Given the description of an element on the screen output the (x, y) to click on. 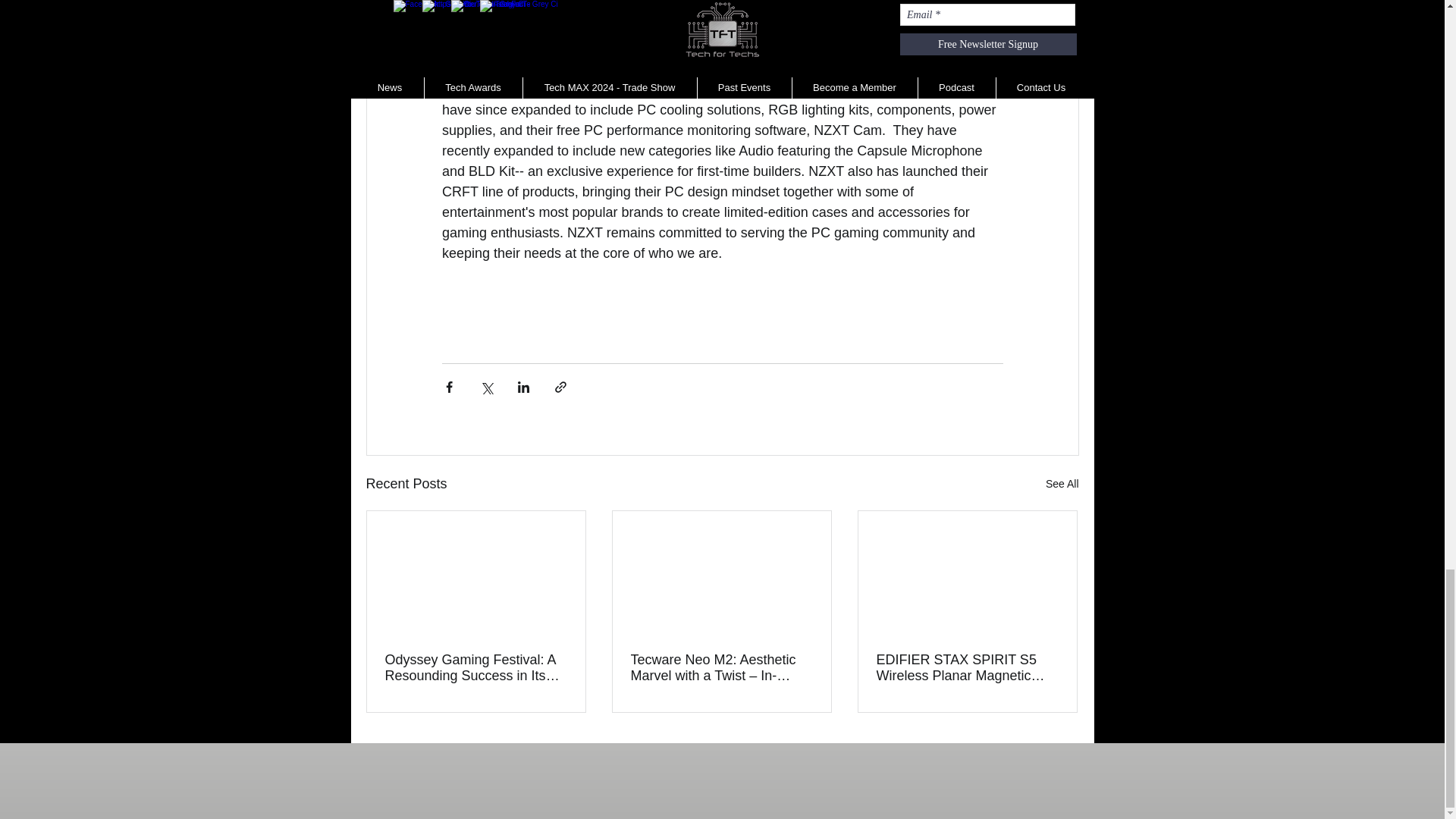
See All (1061, 484)
